Given the description of an element on the screen output the (x, y) to click on. 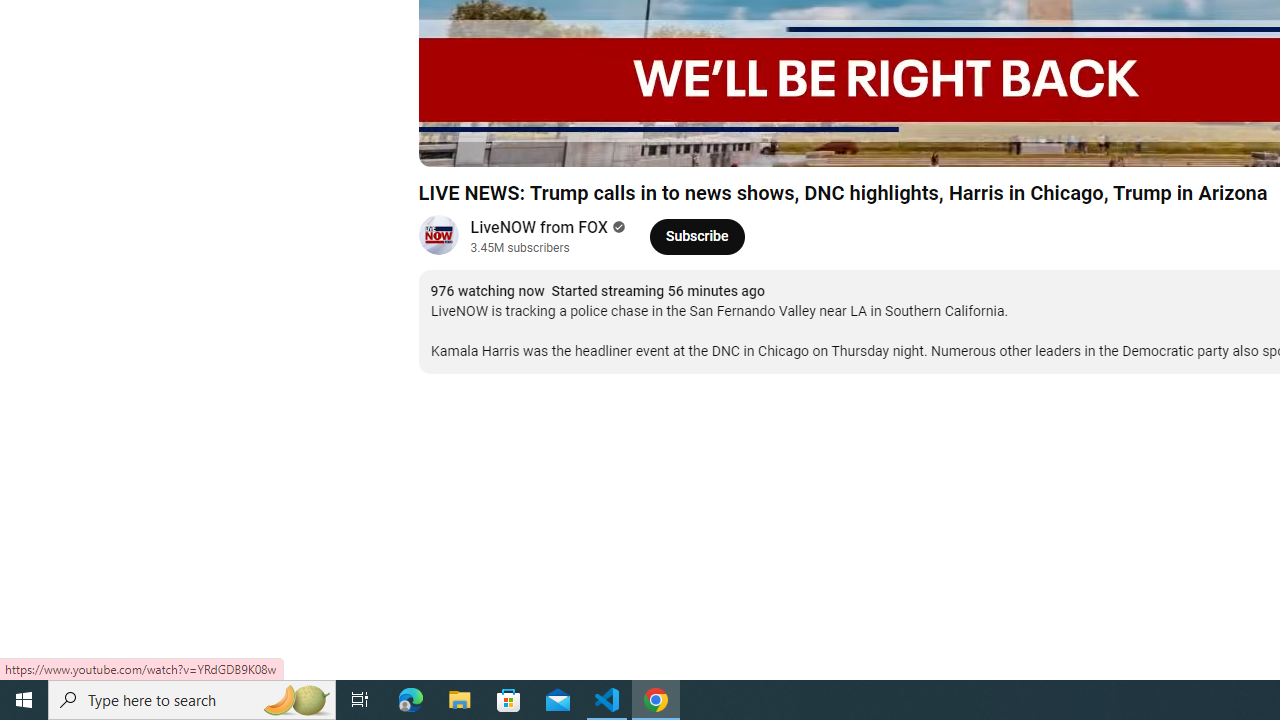
Skip ahead to live broadcast. (598, 142)
Next (SHIFT+n) (500, 142)
Play (k) (453, 142)
Mute (m) (548, 142)
Verified (615, 227)
Subscribe to LiveNOW from FOX. (696, 236)
LiveNOW from FOX (539, 227)
